Given the description of an element on the screen output the (x, y) to click on. 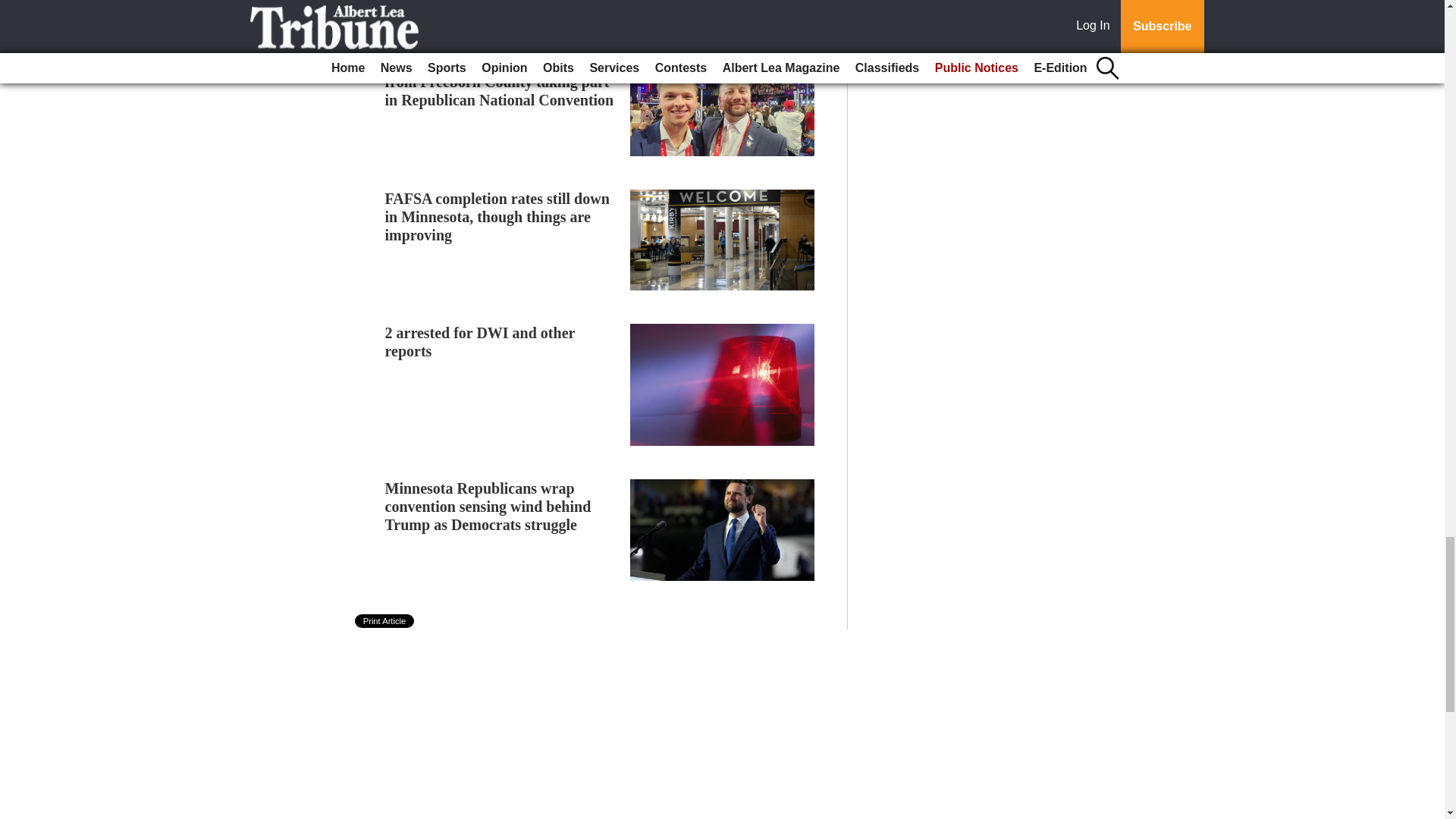
2 arrested for DWI and other reports (480, 341)
